Given the description of an element on the screen output the (x, y) to click on. 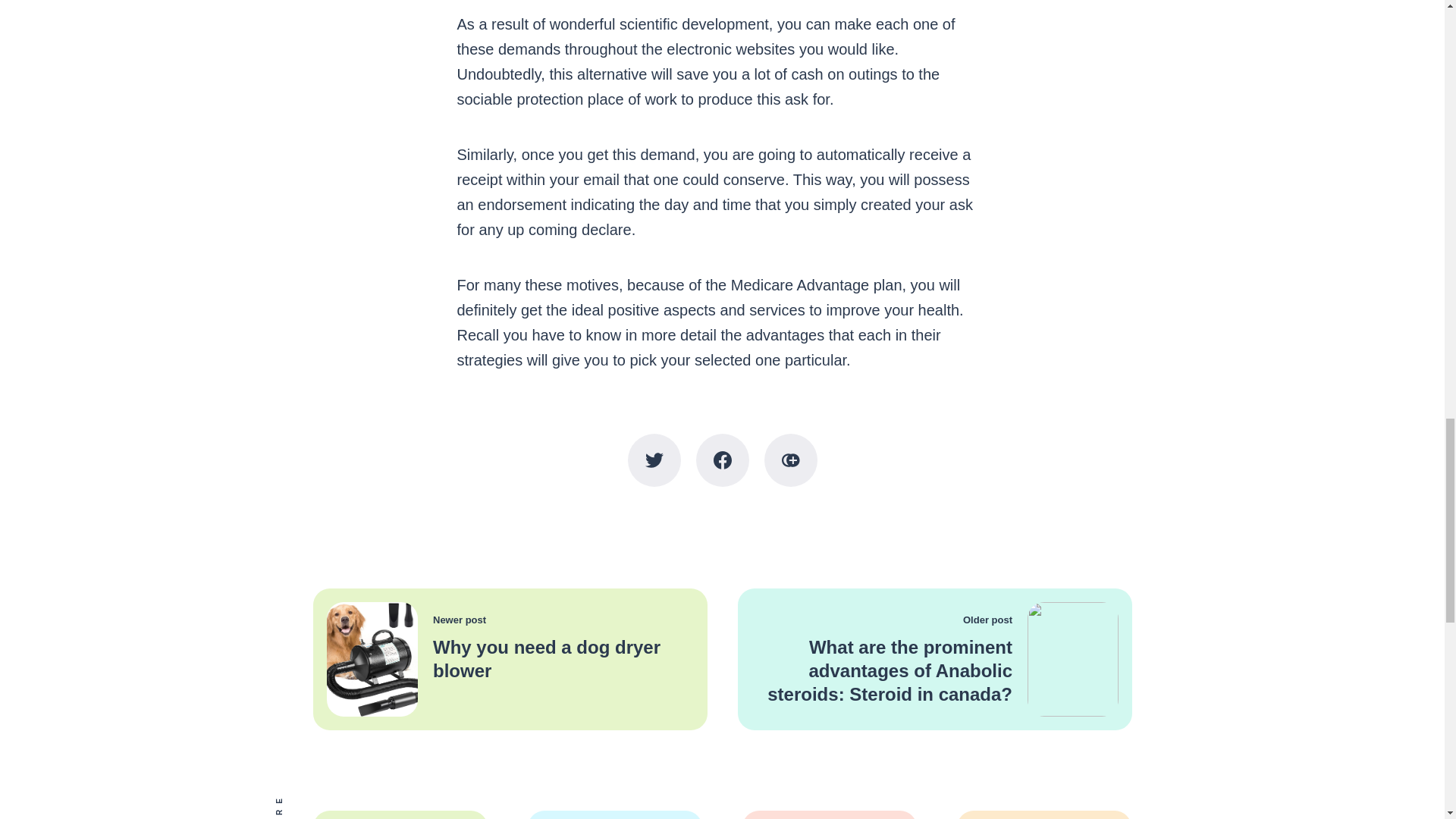
Why you need a dog dryer blower (545, 658)
